Given the description of an element on the screen output the (x, y) to click on. 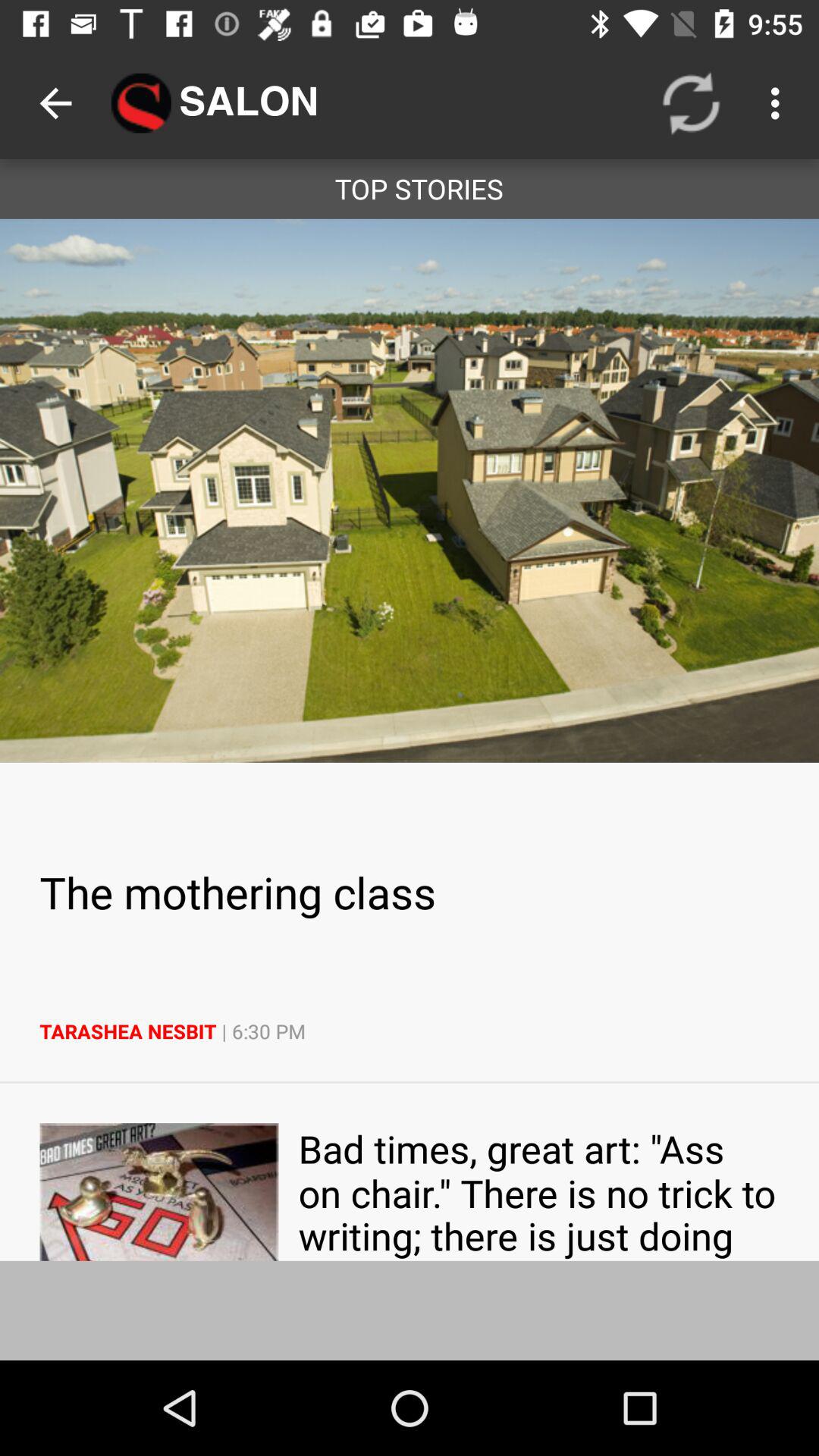
click icon above top stories icon (779, 103)
